Given the description of an element on the screen output the (x, y) to click on. 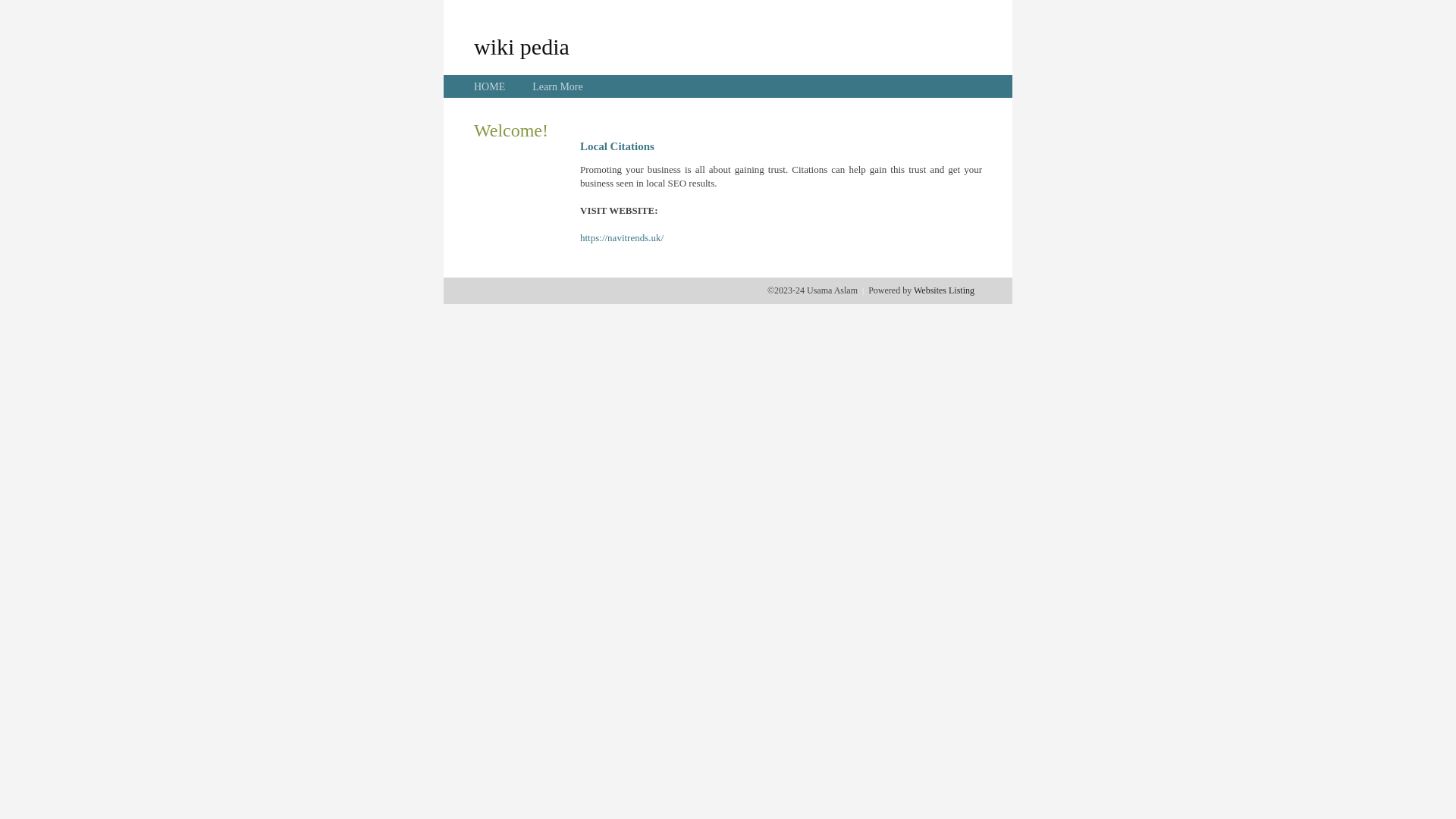
Websites Listing Element type: text (943, 290)
Learn More Element type: text (557, 86)
wiki pedia Element type: text (521, 46)
https://navitrends.uk/ Element type: text (621, 237)
HOME Element type: text (489, 86)
